Given the description of an element on the screen output the (x, y) to click on. 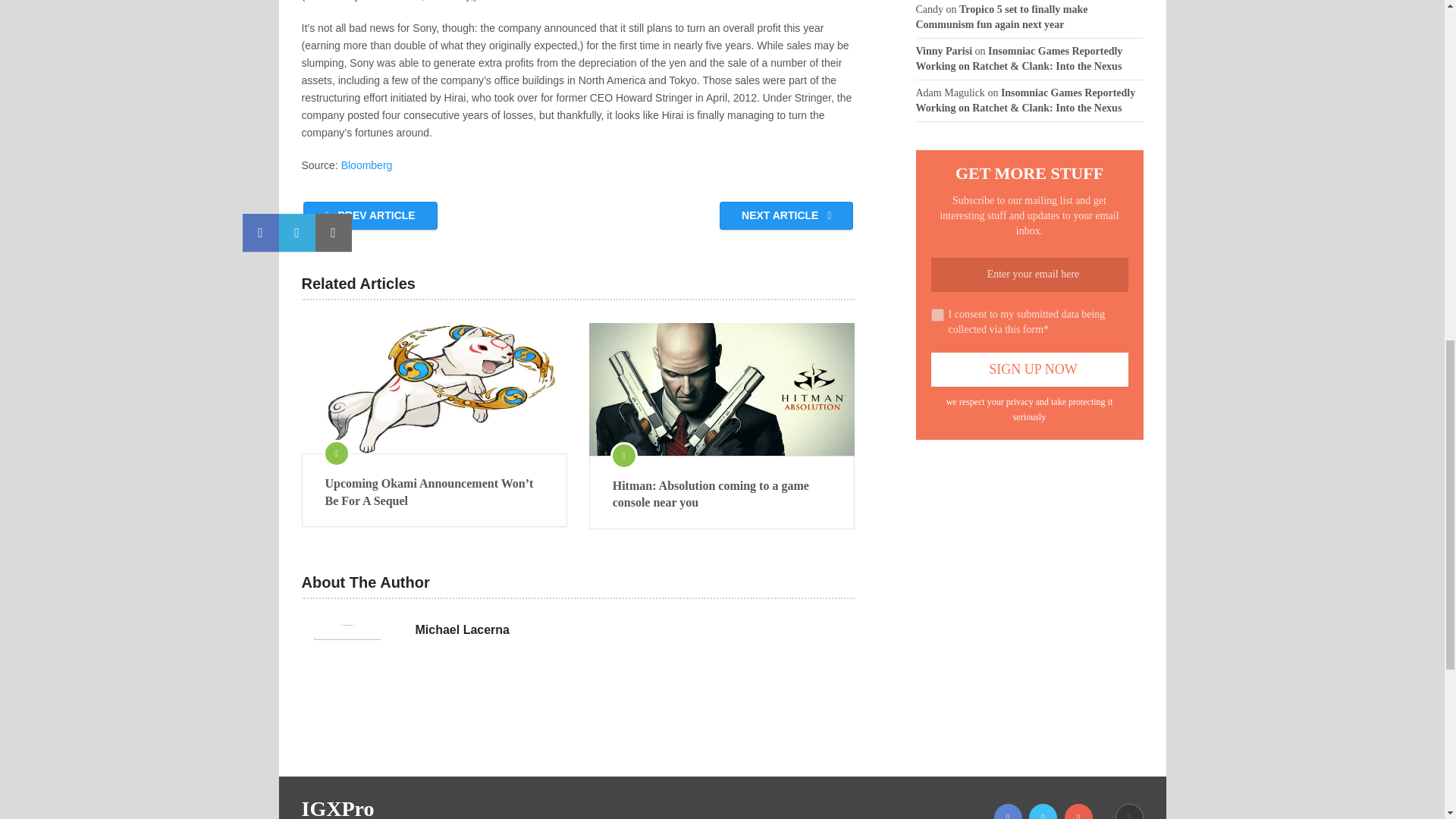
Sign Up Now (1029, 368)
Bloomberg (366, 164)
PREV ARTICLE (370, 215)
Hitman: Absolution coming to a game console near you (721, 388)
Hitman: Absolution coming to a game console near you (721, 494)
on (937, 314)
NEXT ARTICLE (786, 215)
